Given the description of an element on the screen output the (x, y) to click on. 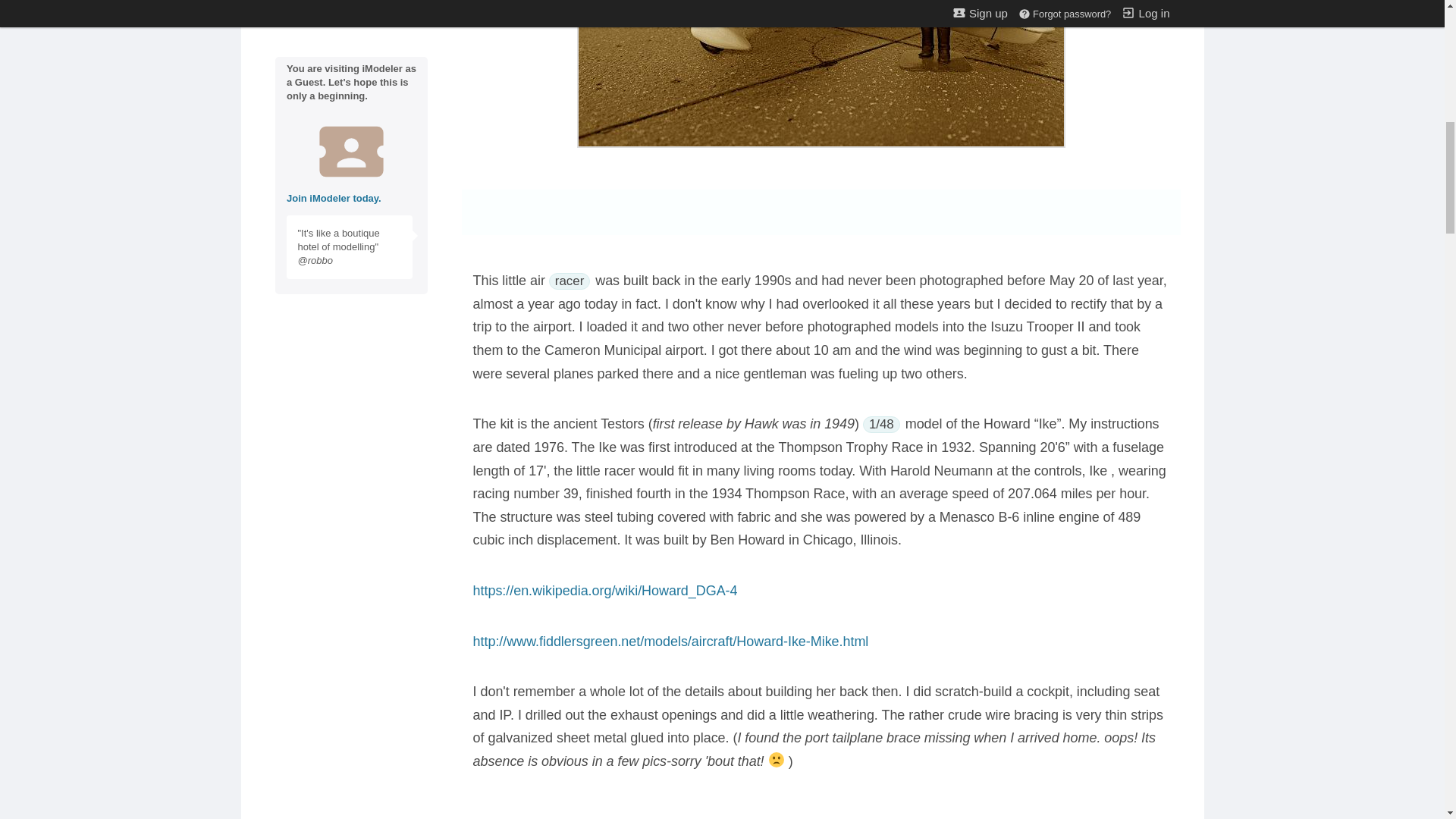
Click for the racer database at iModeler (568, 280)
racer (568, 280)
